Given the description of an element on the screen output the (x, y) to click on. 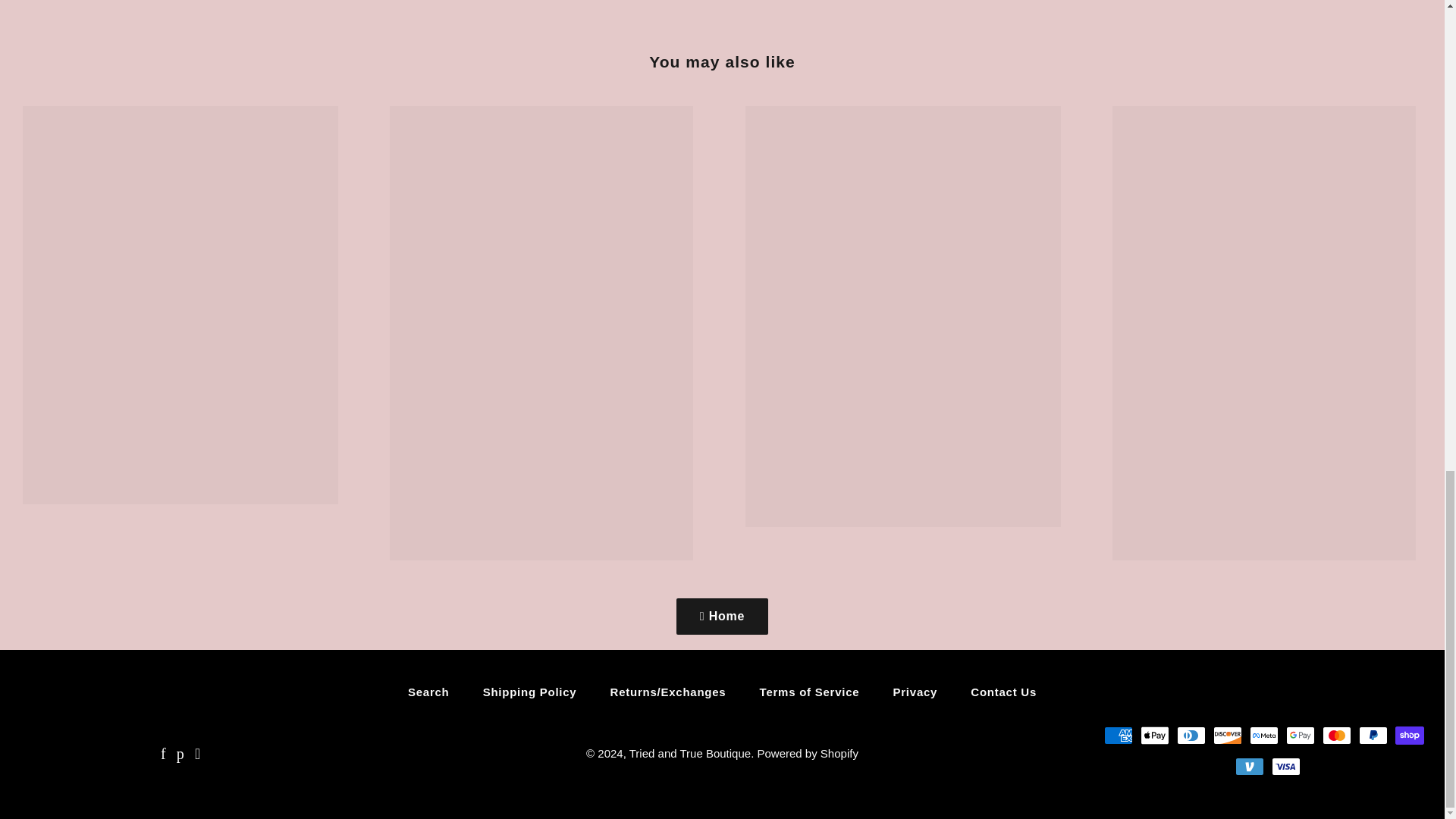
Contact Us (1003, 691)
Venmo (1248, 766)
American Express (1117, 735)
Meta Pay (1263, 735)
PayPal (1372, 735)
Discover (1226, 735)
Privacy (915, 691)
Mastercard (1336, 735)
Shipping Policy (529, 691)
Diners Club (1190, 735)
